Given the description of an element on the screen output the (x, y) to click on. 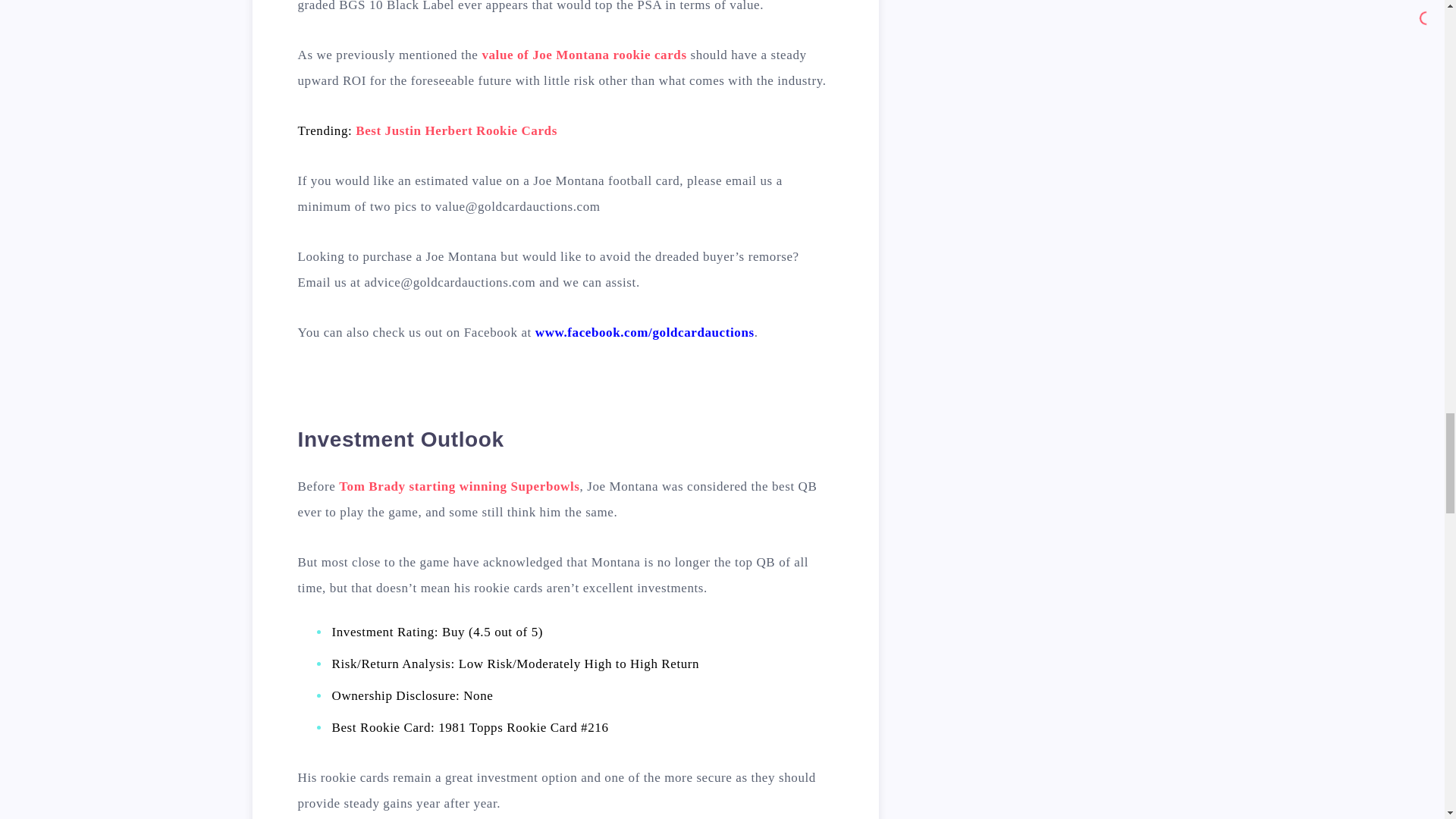
Tom Brady starting winning Superbowls (459, 486)
value of Joe Montana rookie cards (583, 54)
Best Justin Herbert Rookie Cards (456, 130)
